Given the description of an element on the screen output the (x, y) to click on. 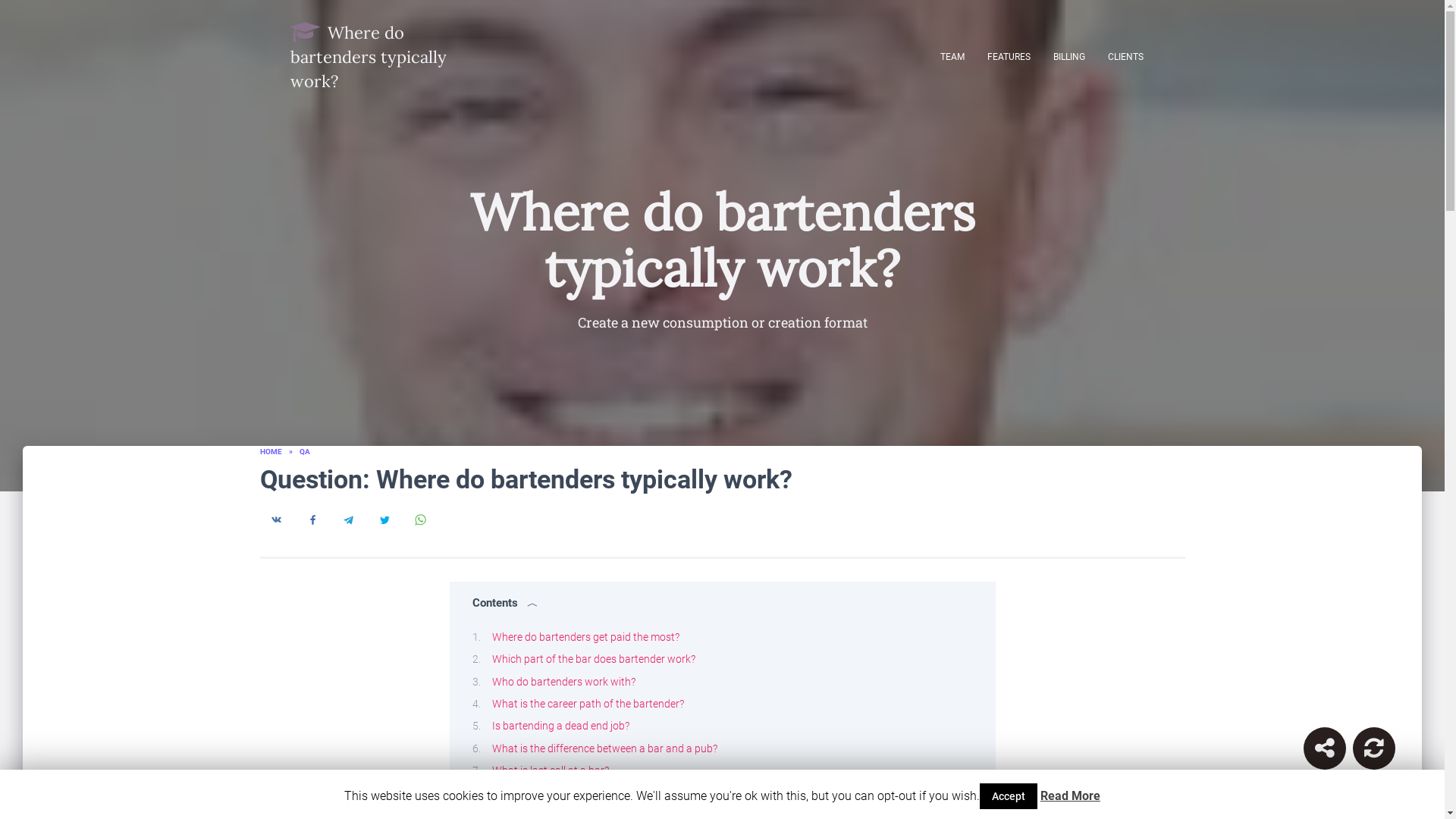
CLIENTS (1125, 56)
FEATURES (1008, 56)
What is last call at a bar? (550, 770)
Which part of the bar does bartender work? (593, 658)
Billing (1069, 56)
Read More (1070, 795)
What is the difference between a bar and a pub? (604, 748)
Where do bartenders get paid the most? (585, 636)
Share Startup (1324, 748)
Who do bartenders work with? (563, 680)
